Given the description of an element on the screen output the (x, y) to click on. 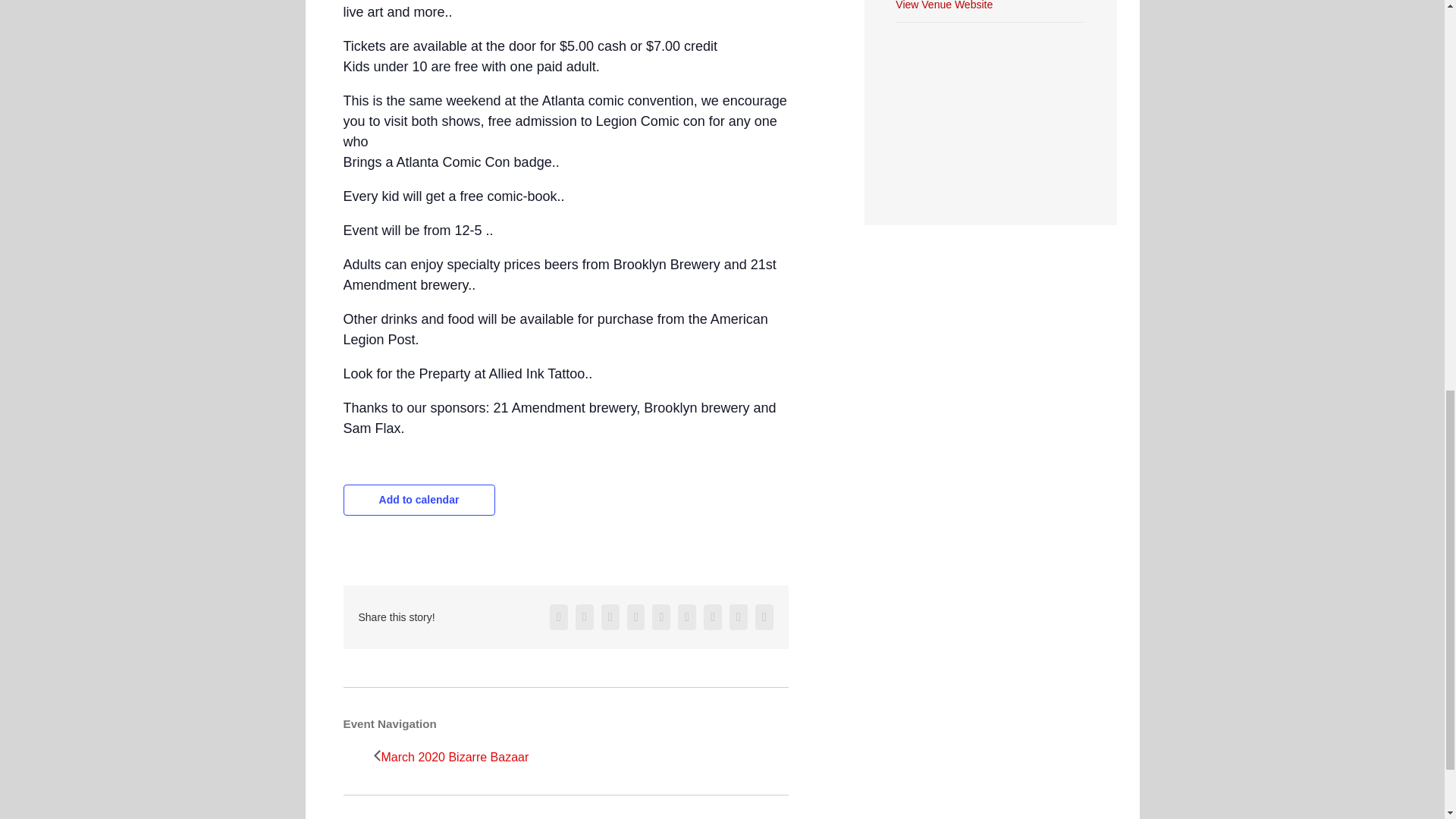
View Venue Website (943, 5)
Add to calendar (419, 499)
March 2020 Bizarre Bazaar (458, 756)
